Given the description of an element on the screen output the (x, y) to click on. 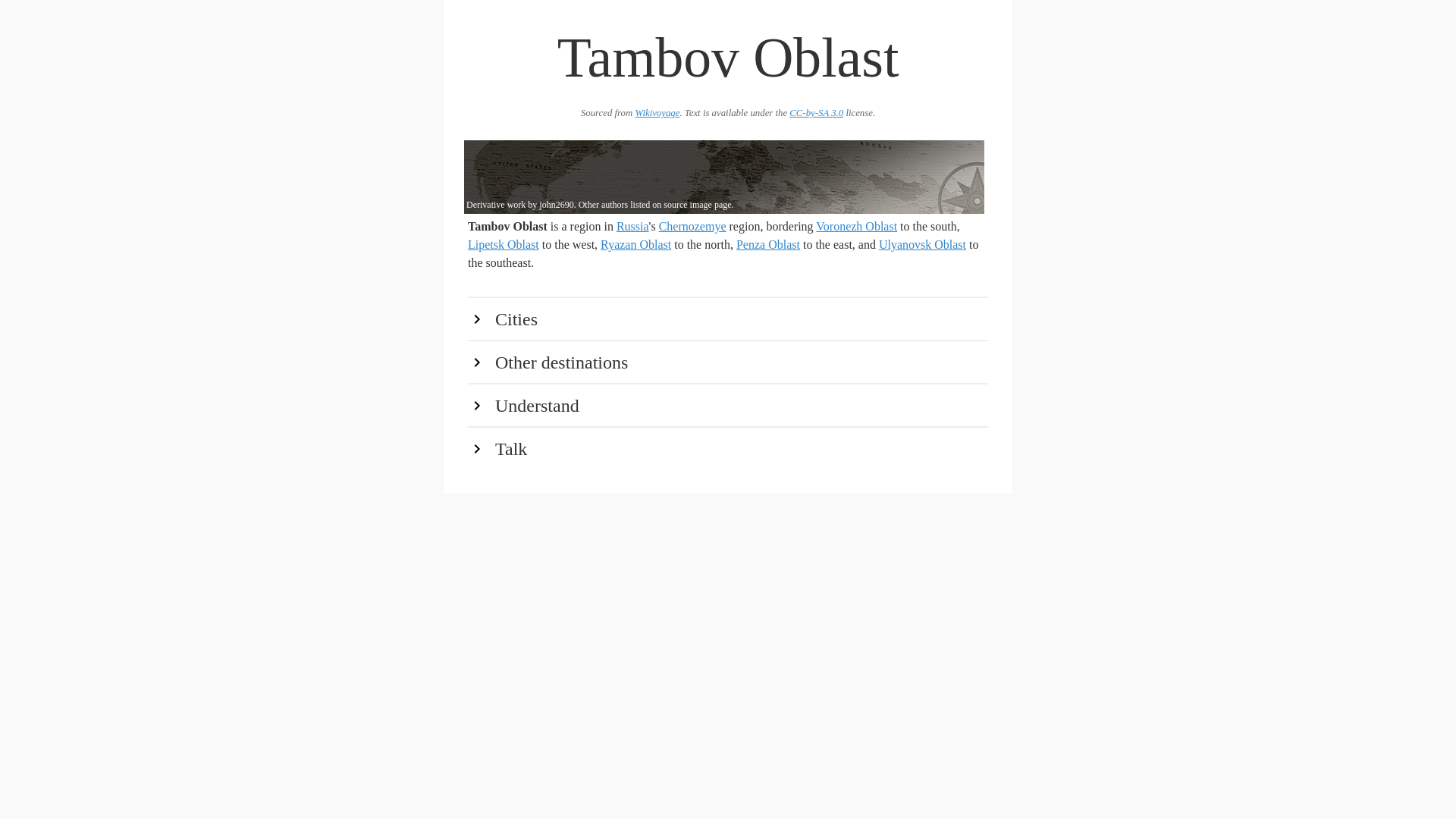
Wikivoyage (656, 112)
Lipetsk Oblast (502, 244)
Voronezh Oblast (855, 226)
Ryazan Oblast (635, 244)
Penza Oblast (767, 244)
Ulyanovsk Oblast (922, 244)
Chernozemye (692, 226)
CC-by-SA 3.0 (816, 112)
Russia (632, 226)
